Given the description of an element on the screen output the (x, y) to click on. 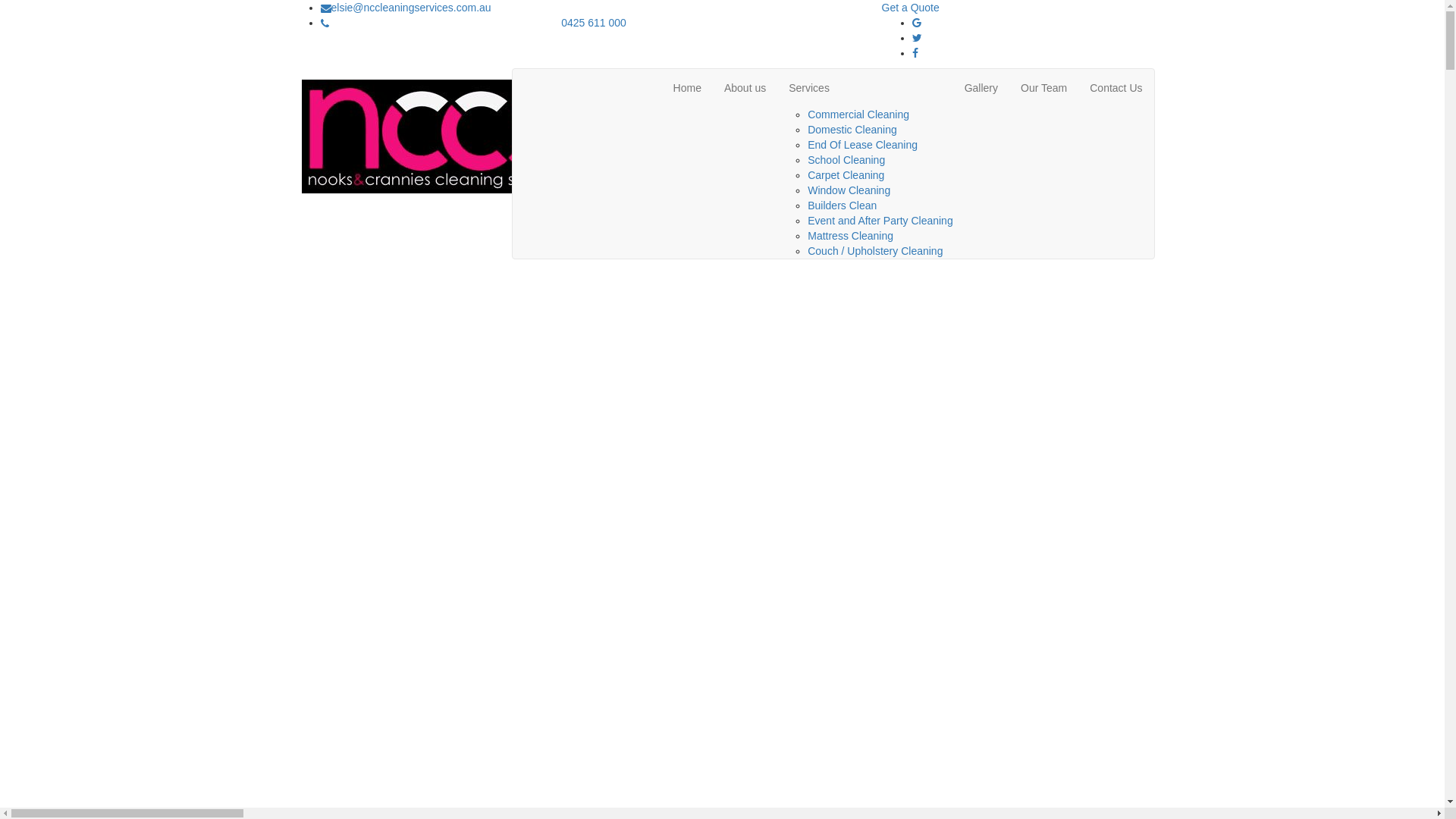
Event and After Party Cleaning Element type: text (879, 220)
Couch / Upholstery Cleaning Element type: text (874, 250)
About us Element type: text (744, 87)
End Of Lease Cleaning Element type: text (862, 144)
Contact Us Element type: text (1115, 87)
ua.moc.secivresgninaelccn@eisle Element type: text (410, 7)
Domestic Cleaning Element type: text (852, 129)
Home Element type: text (687, 87)
Get a Quote Element type: text (909, 7)
Services Element type: text (864, 87)
School Cleaning Element type: text (845, 159)
Carpet Cleaning Element type: text (845, 175)
Mattress Cleaning Element type: text (850, 235)
Builders Clean Element type: text (841, 205)
Window Cleaning Element type: text (848, 190)
Commercial Cleaning Element type: text (858, 114)
0425 611 000 Element type: text (593, 22)
Gallery Element type: text (981, 87)
Our Team Element type: text (1043, 87)
